Given the description of an element on the screen output the (x, y) to click on. 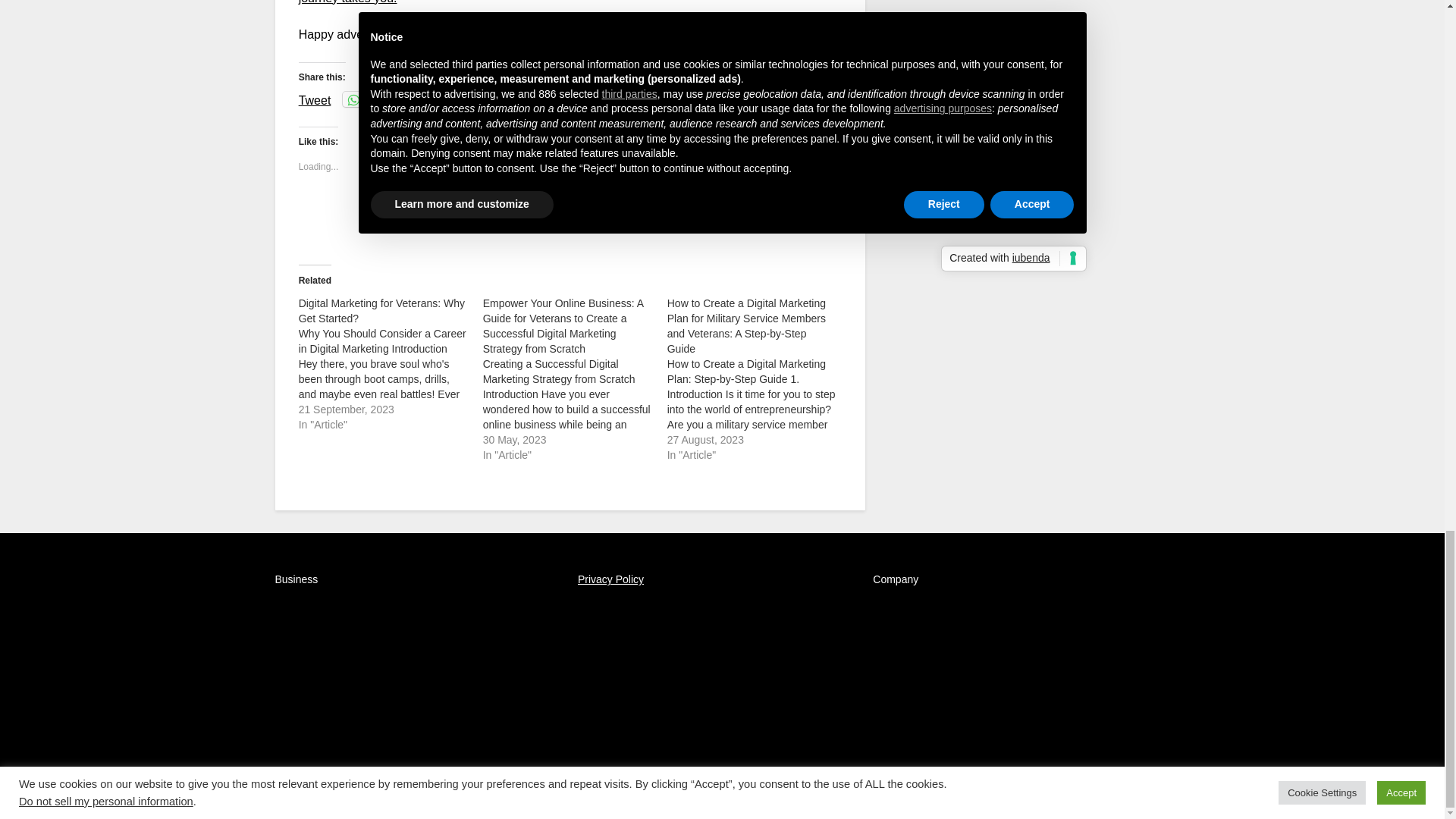
Digital Marketing for Veterans: Why Get Started? (381, 310)
Click to share on Telegram (445, 99)
Click to share on WhatsApp (375, 99)
WhatsApp (375, 99)
Like or Reblog (570, 219)
More (505, 99)
